Given the description of an element on the screen output the (x, y) to click on. 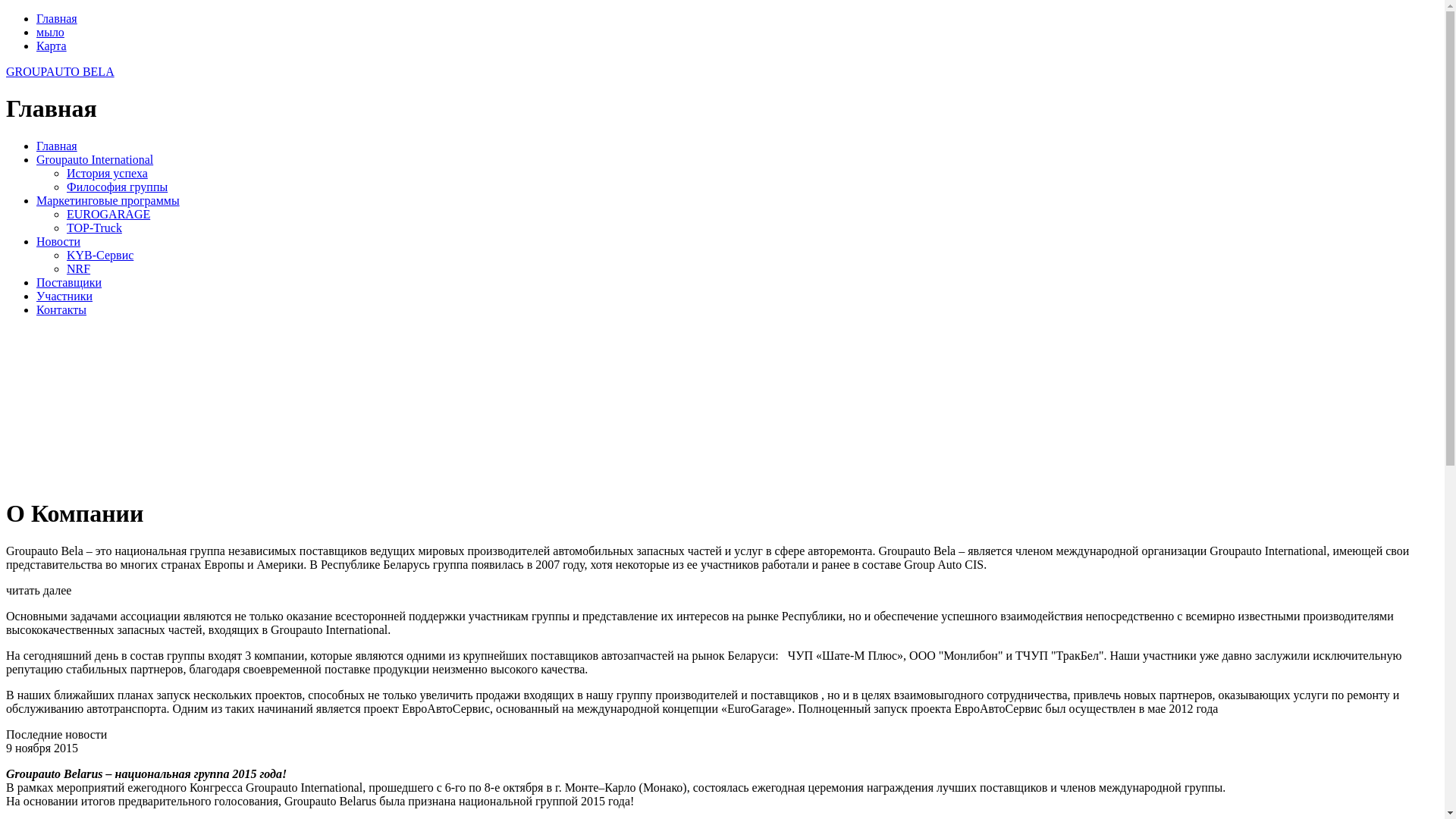
TOP-Truck Element type: text (94, 227)
GROUPAUTO BELA Element type: text (60, 71)
NRF Element type: text (78, 268)
EUROGARAGE Element type: text (108, 213)
Groupauto International Element type: text (94, 159)
